Given the description of an element on the screen output the (x, y) to click on. 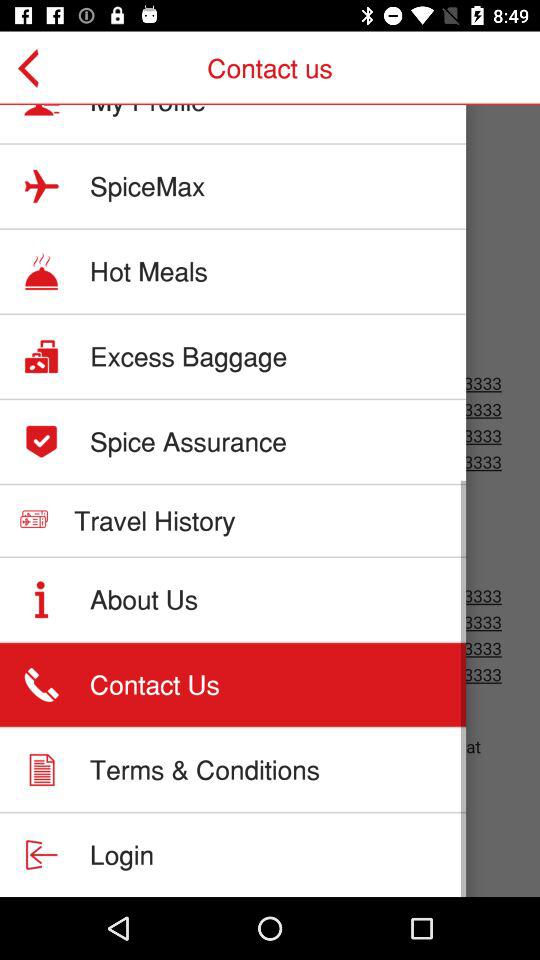
choose the item above excess baggage (148, 271)
